Given the description of an element on the screen output the (x, y) to click on. 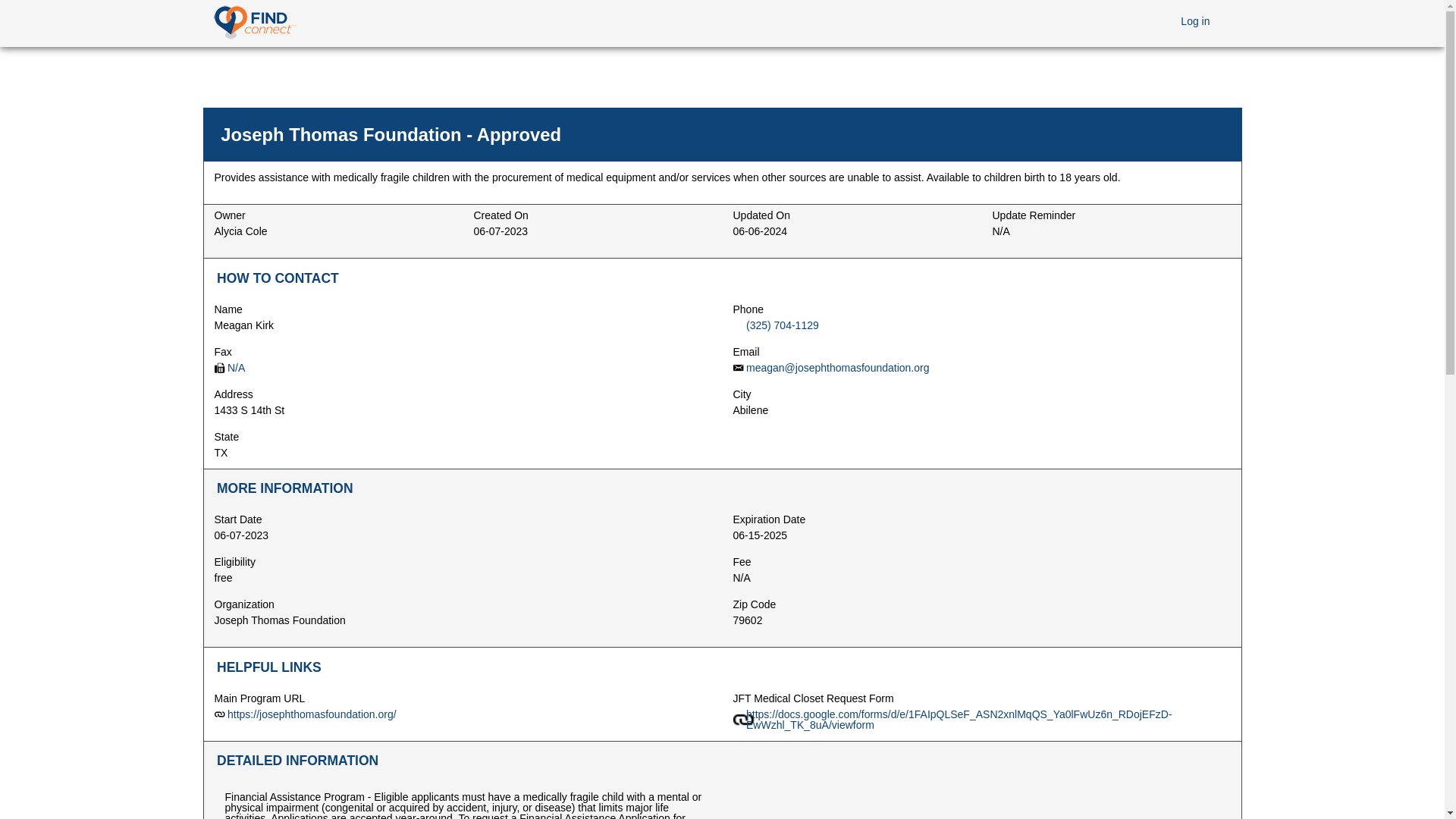
Log in (1194, 20)
